Given the description of an element on the screen output the (x, y) to click on. 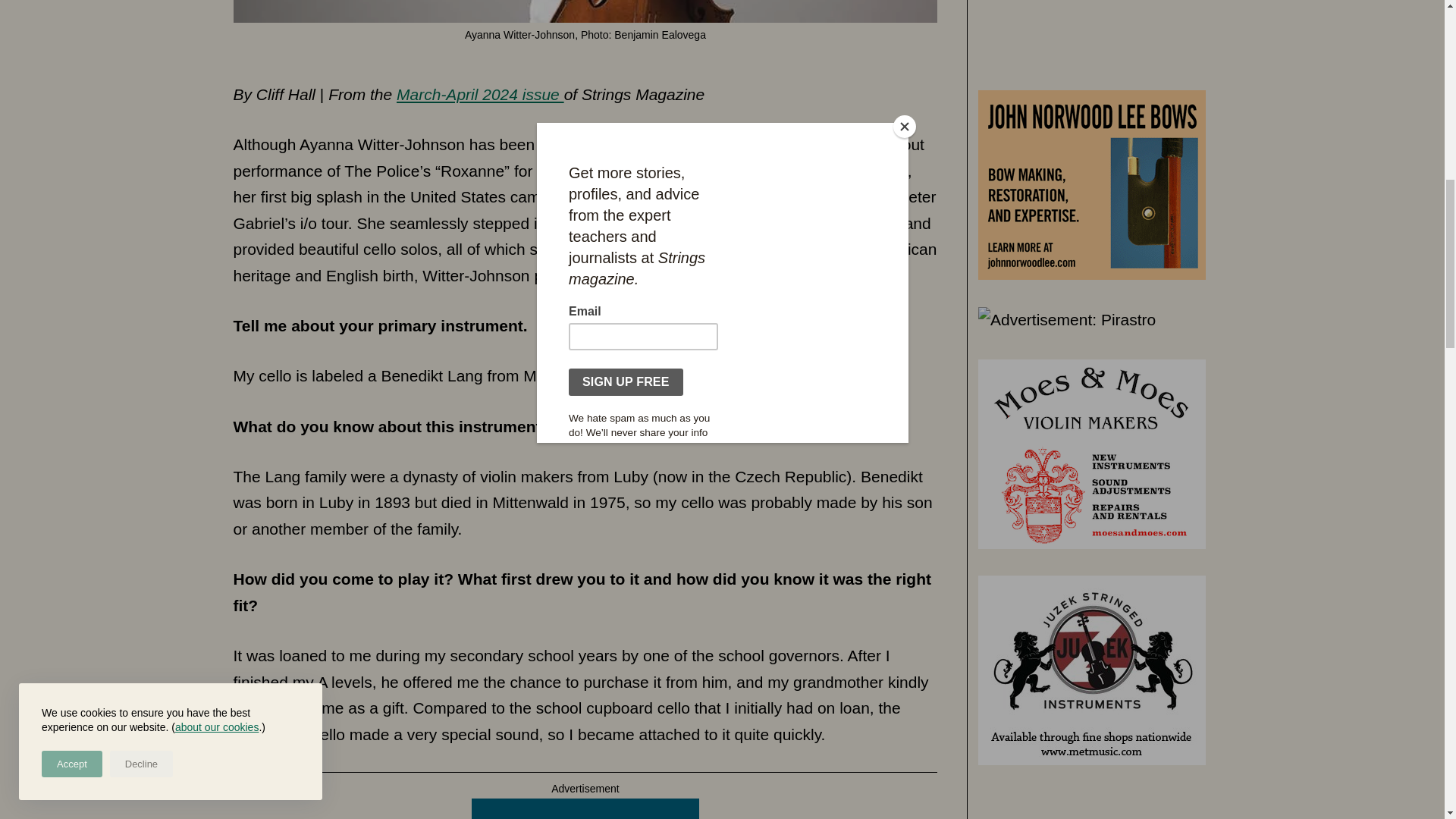
Advertisement: Metropolitan Music  (1091, 37)
March-April 2024 issue (480, 94)
